Given the description of an element on the screen output the (x, y) to click on. 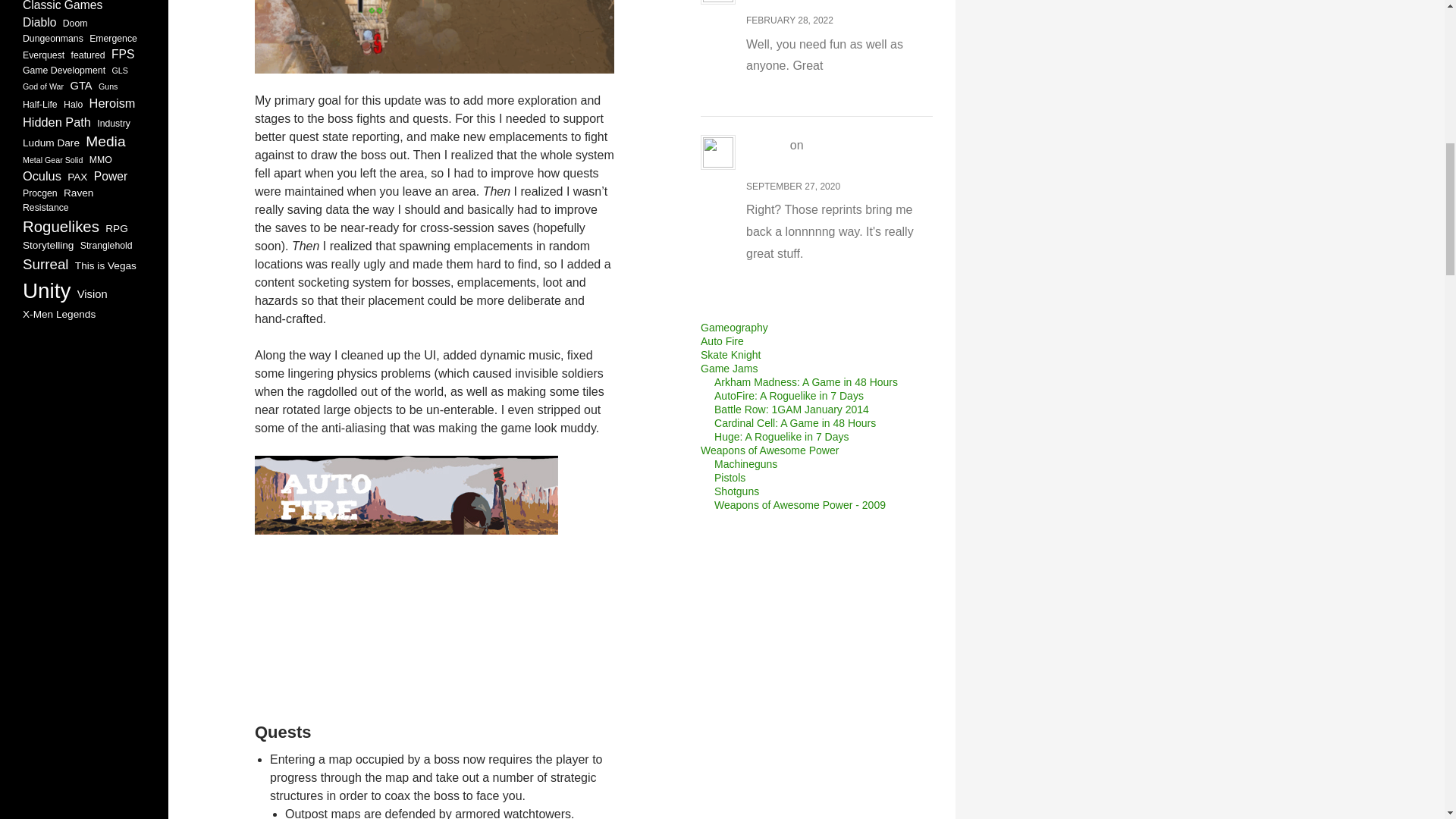
Car Wars Pocket Box Kickstarter Unboxed (836, 155)
A Side project to my side project (836, 4)
Gameography (734, 327)
Patrick (765, 144)
